Given the description of an element on the screen output the (x, y) to click on. 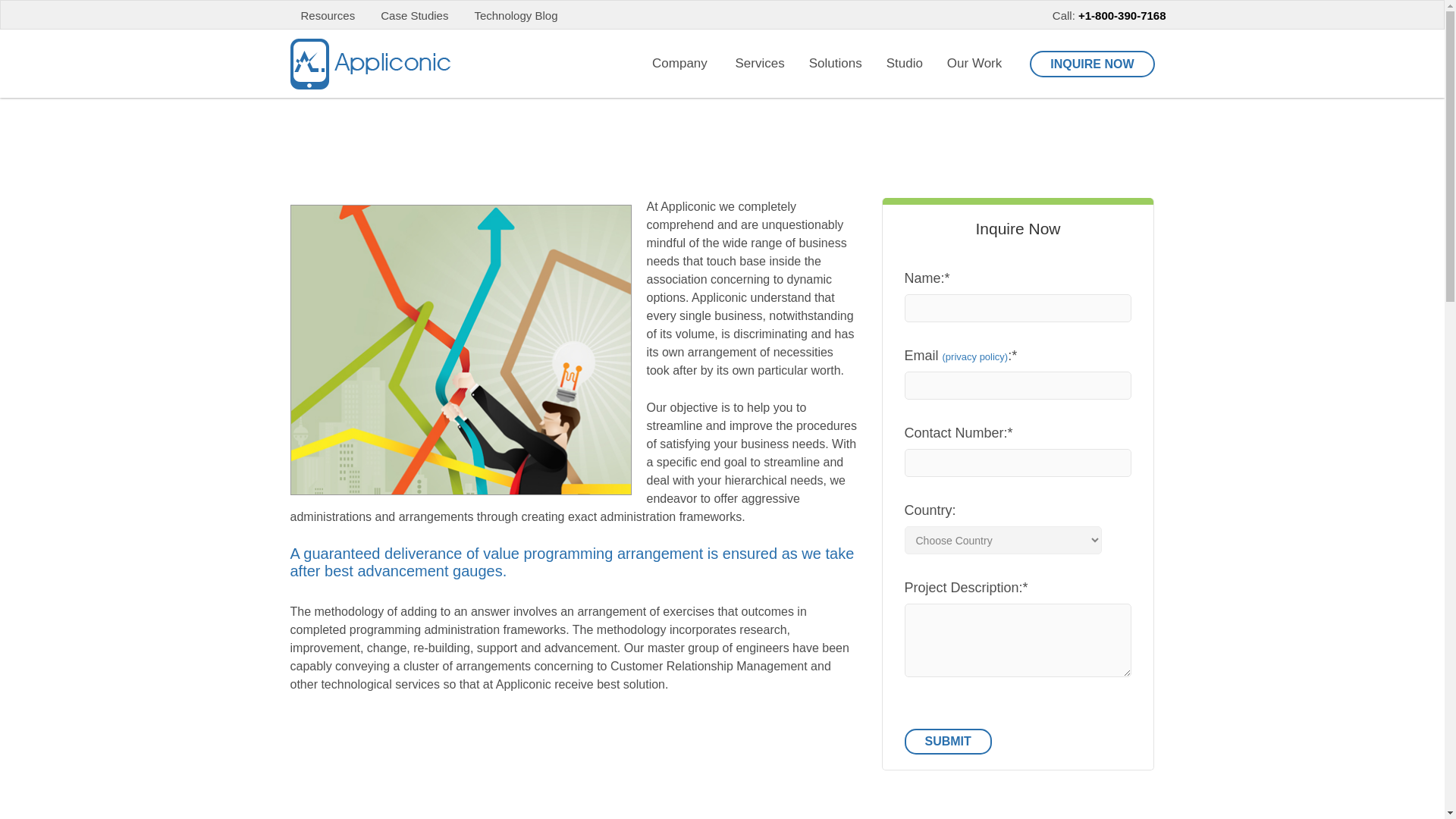
INQUIRE NOW (1091, 63)
Submit (947, 741)
Services (765, 63)
Technology Blog (515, 15)
Resources (317, 15)
Case Studies (414, 15)
Company (685, 63)
Solutions (840, 63)
